Given the description of an element on the screen output the (x, y) to click on. 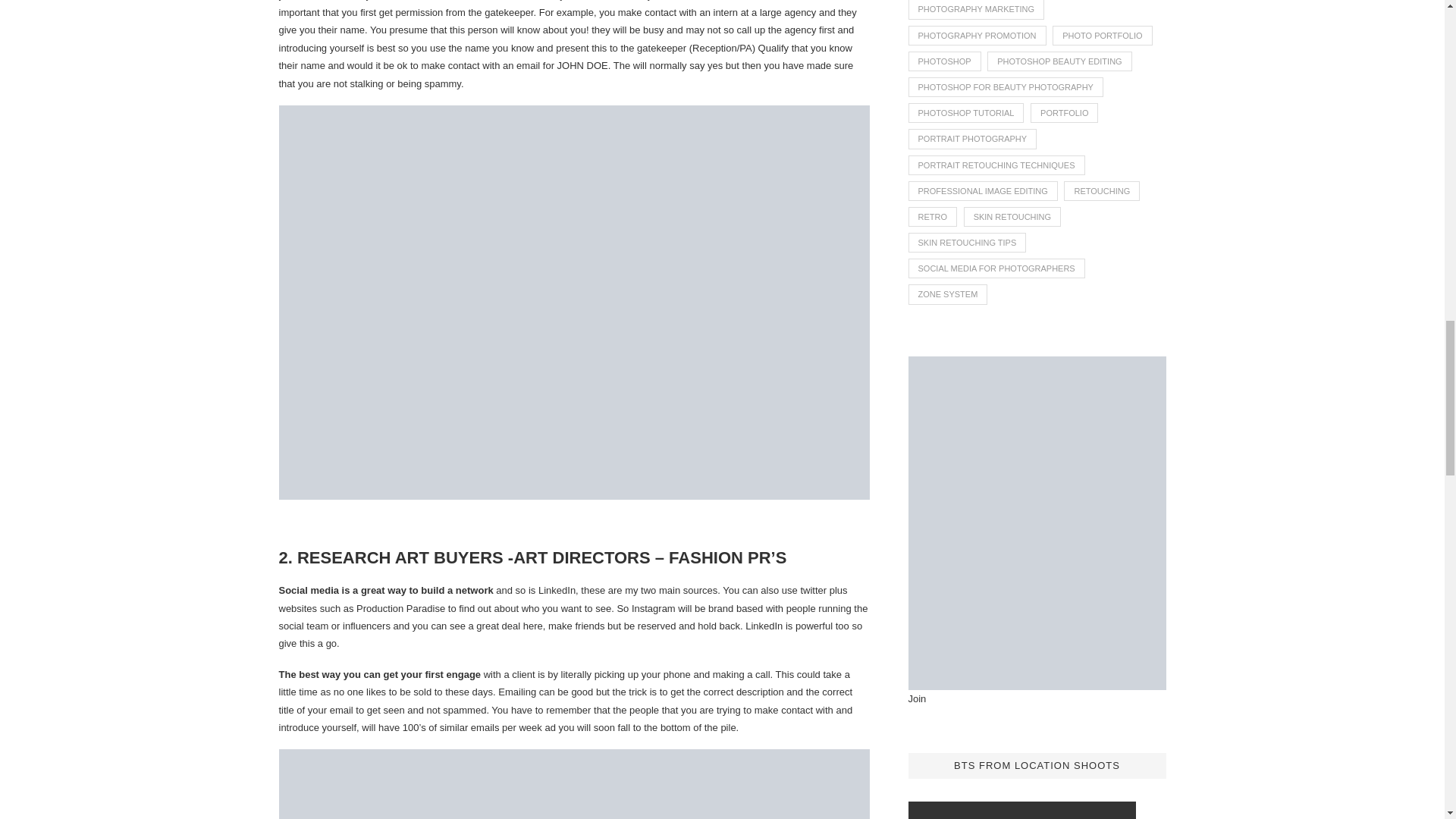
Top 4 WAYS IN GETTING YOUR FIRST CLIENT 4 (574, 784)
